Given the description of an element on the screen output the (x, y) to click on. 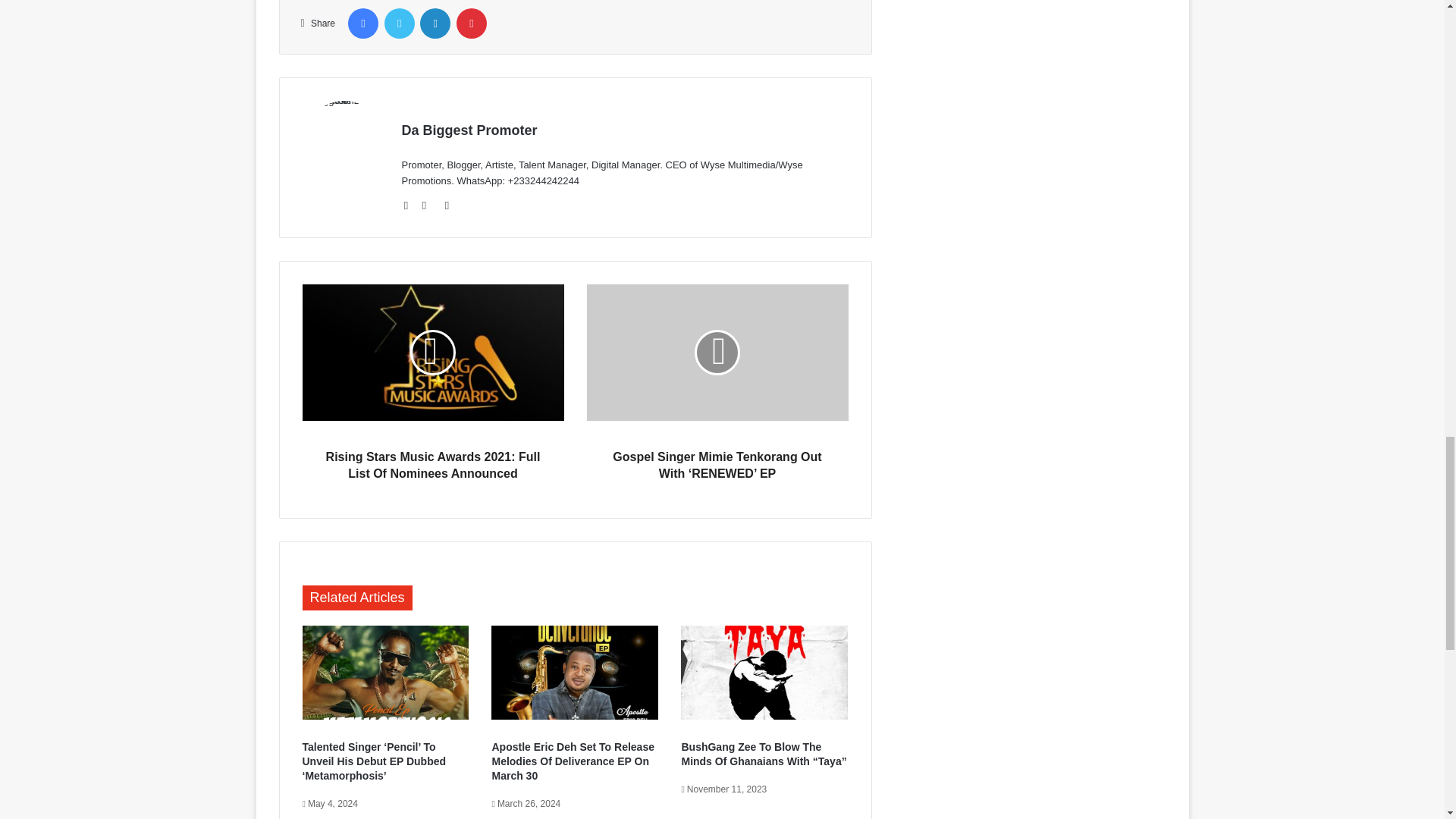
Twitter (429, 205)
Pinterest (471, 23)
Facebook (362, 23)
Da Biggest Promoter (469, 130)
LinkedIn (434, 23)
LinkedIn (434, 23)
Facebook (362, 23)
Twitter (399, 23)
Twitter (399, 23)
Pinterest (471, 23)
Website (410, 205)
